Given the description of an element on the screen output the (x, y) to click on. 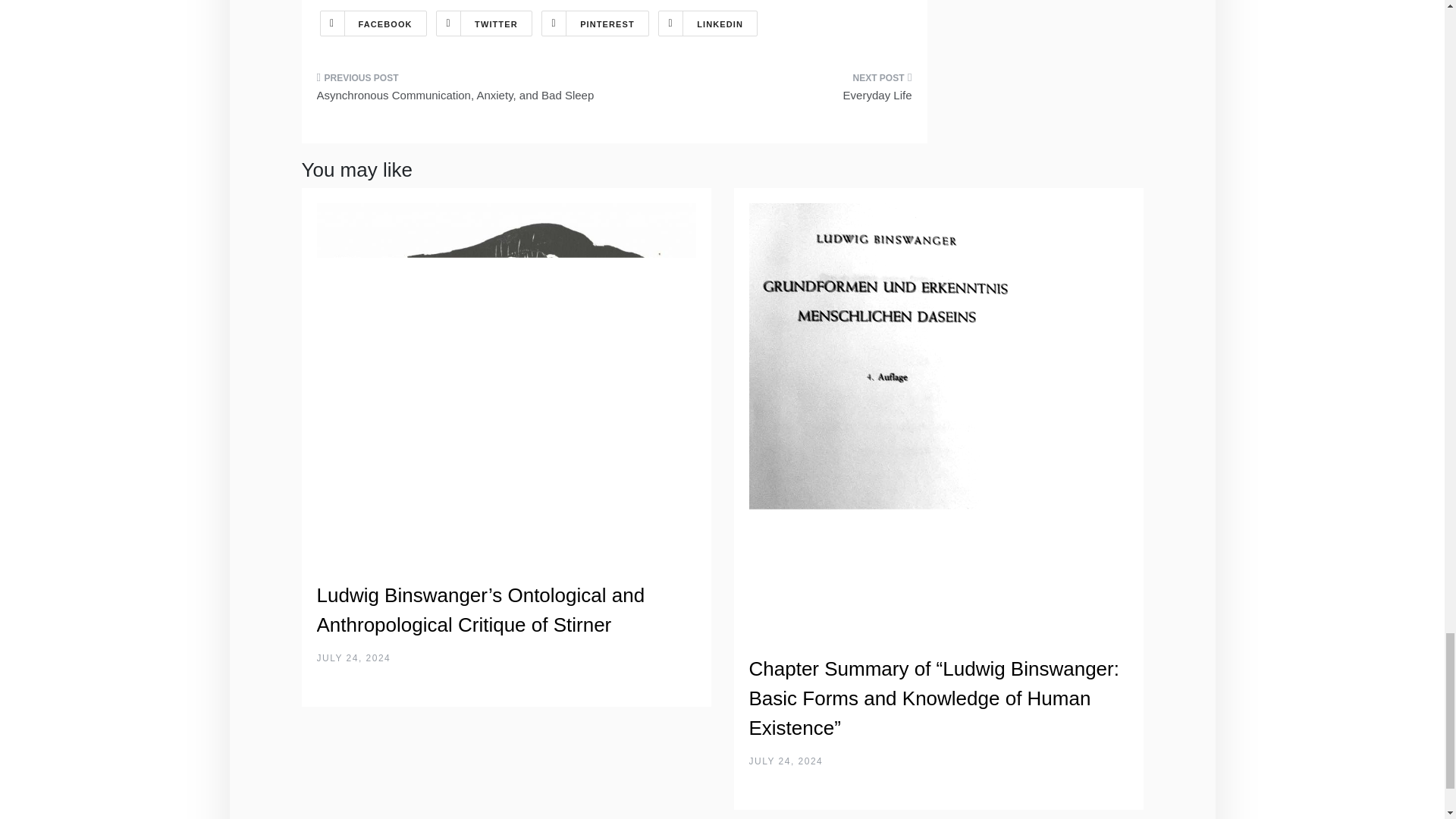
Everyday Life (769, 91)
FACEBOOK (373, 23)
TWITTER (483, 23)
Asynchronous Communication, Anxiety, and Bad Sleep (460, 91)
PINTEREST (595, 23)
LINKEDIN (707, 23)
